Given the description of an element on the screen output the (x, y) to click on. 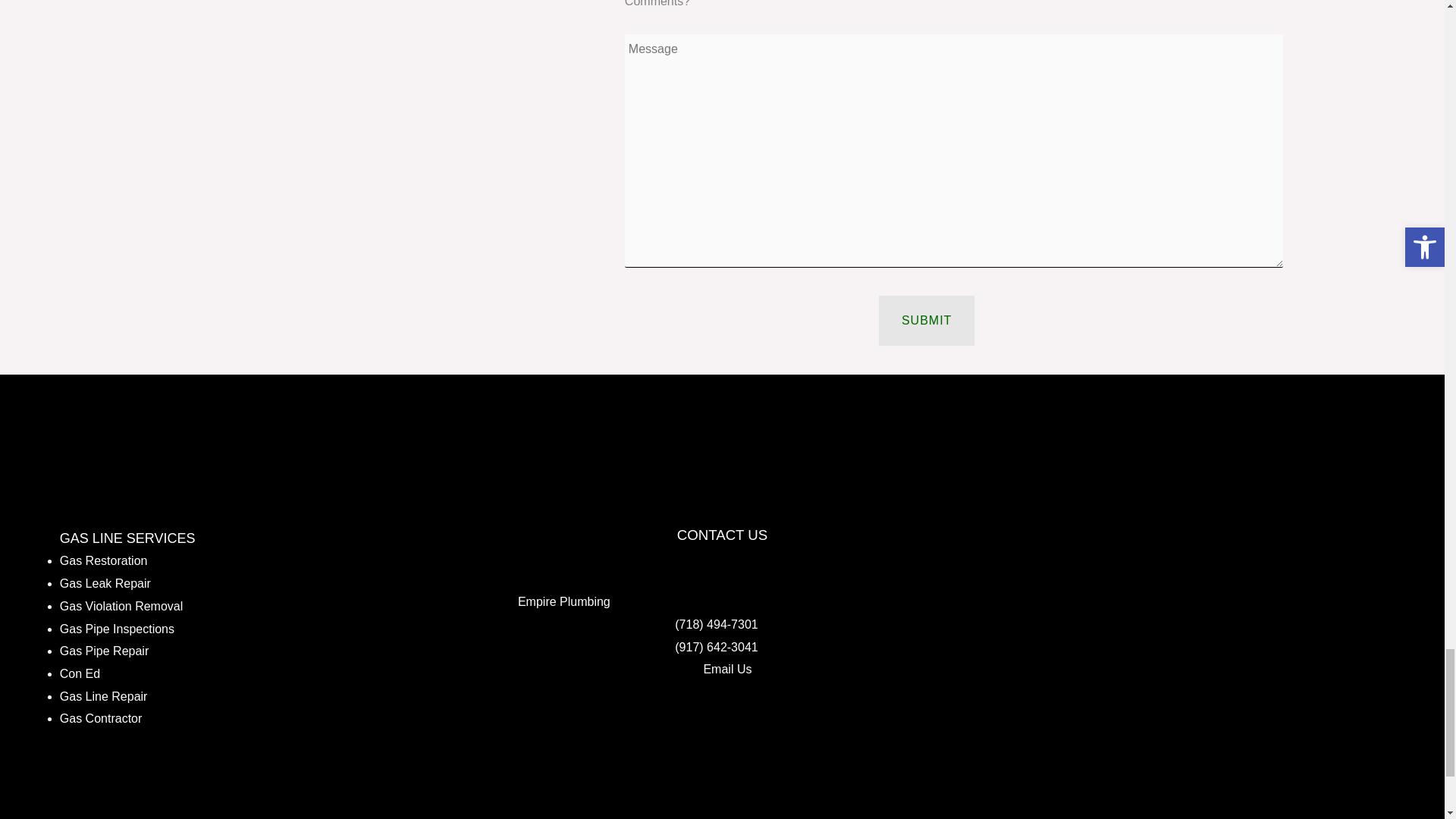
Submit (926, 320)
